Given the description of an element on the screen output the (x, y) to click on. 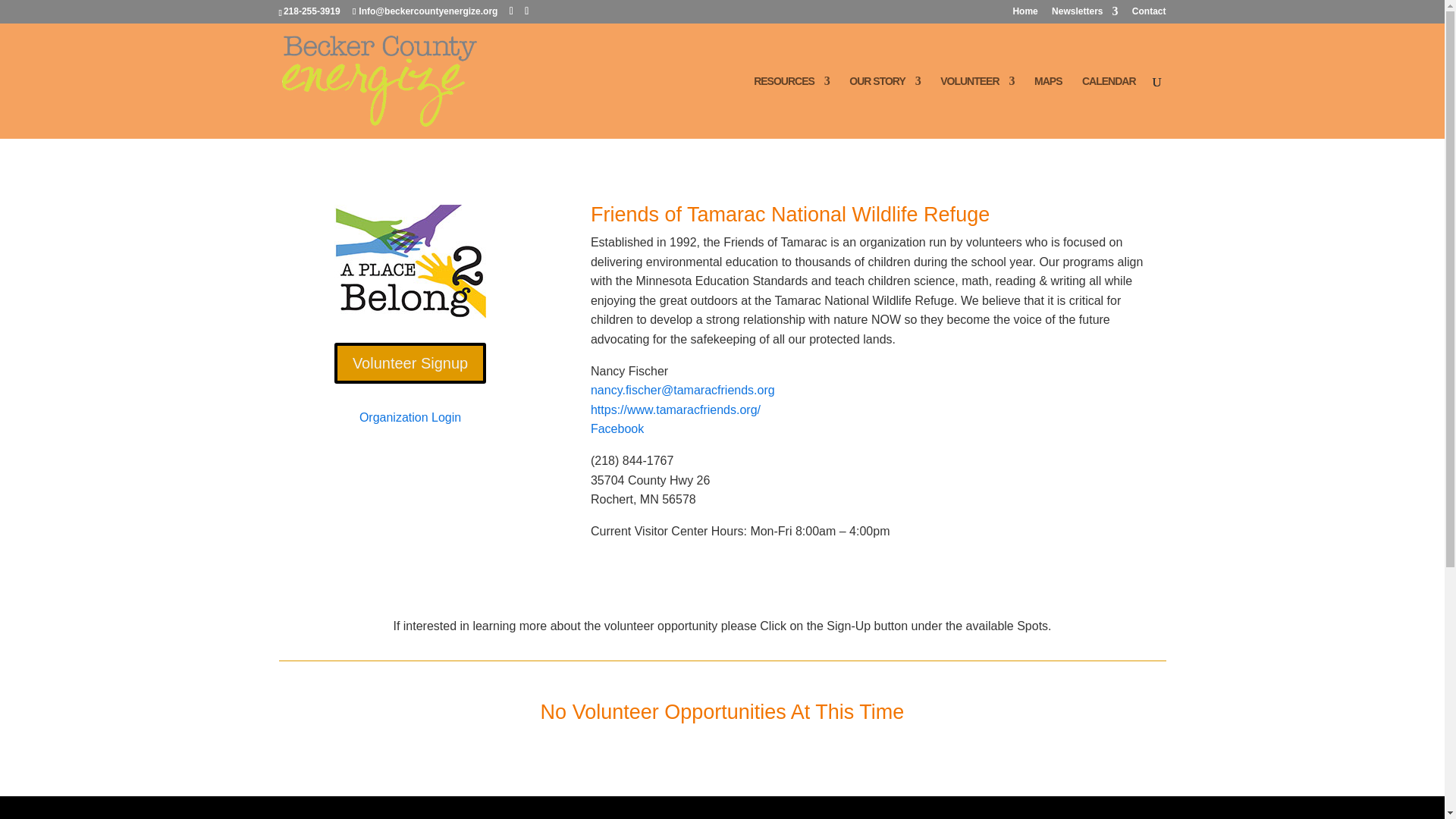
VOLUNTEER (976, 107)
OUR STORY (884, 107)
Home (1023, 14)
Contact (1149, 14)
RESOURCES (791, 107)
Newsletters (1084, 14)
